Given the description of an element on the screen output the (x, y) to click on. 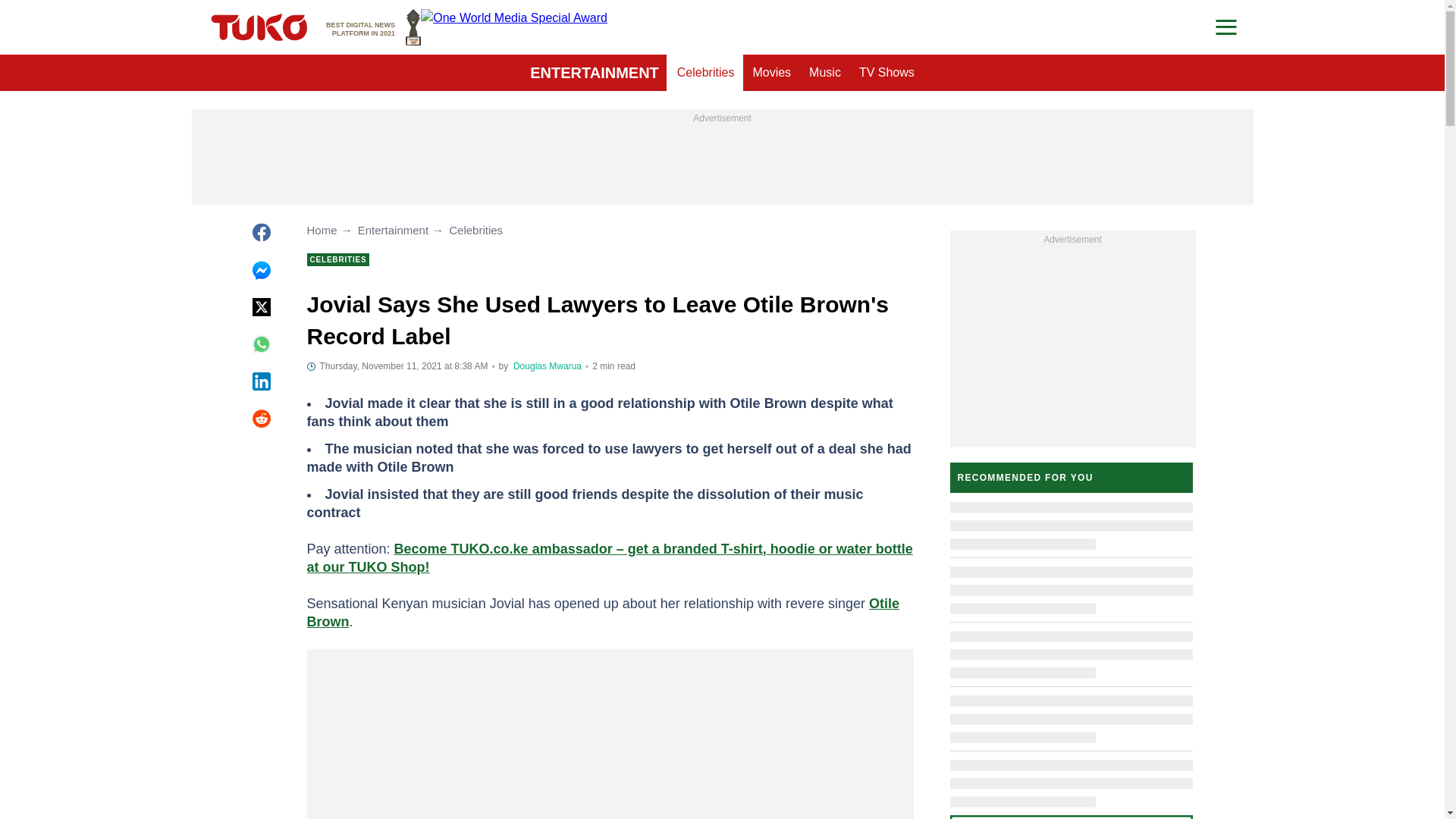
Celebrities (373, 27)
TV Shows (706, 72)
Music (886, 72)
Movies (824, 72)
ENTERTAINMENT (770, 72)
Author page (594, 72)
